Given the description of an element on the screen output the (x, y) to click on. 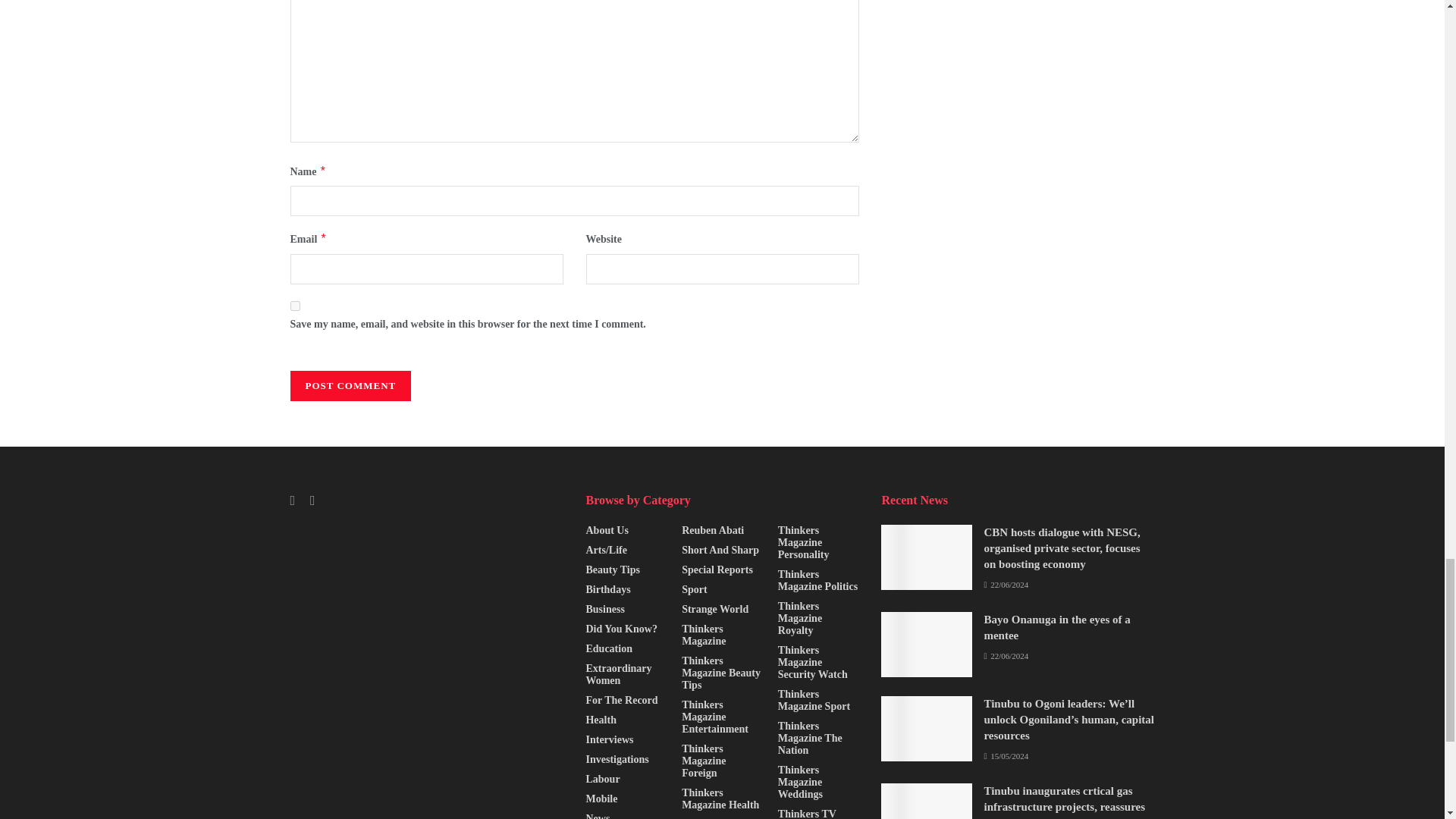
yes (294, 306)
Post Comment (349, 386)
